Given the description of an element on the screen output the (x, y) to click on. 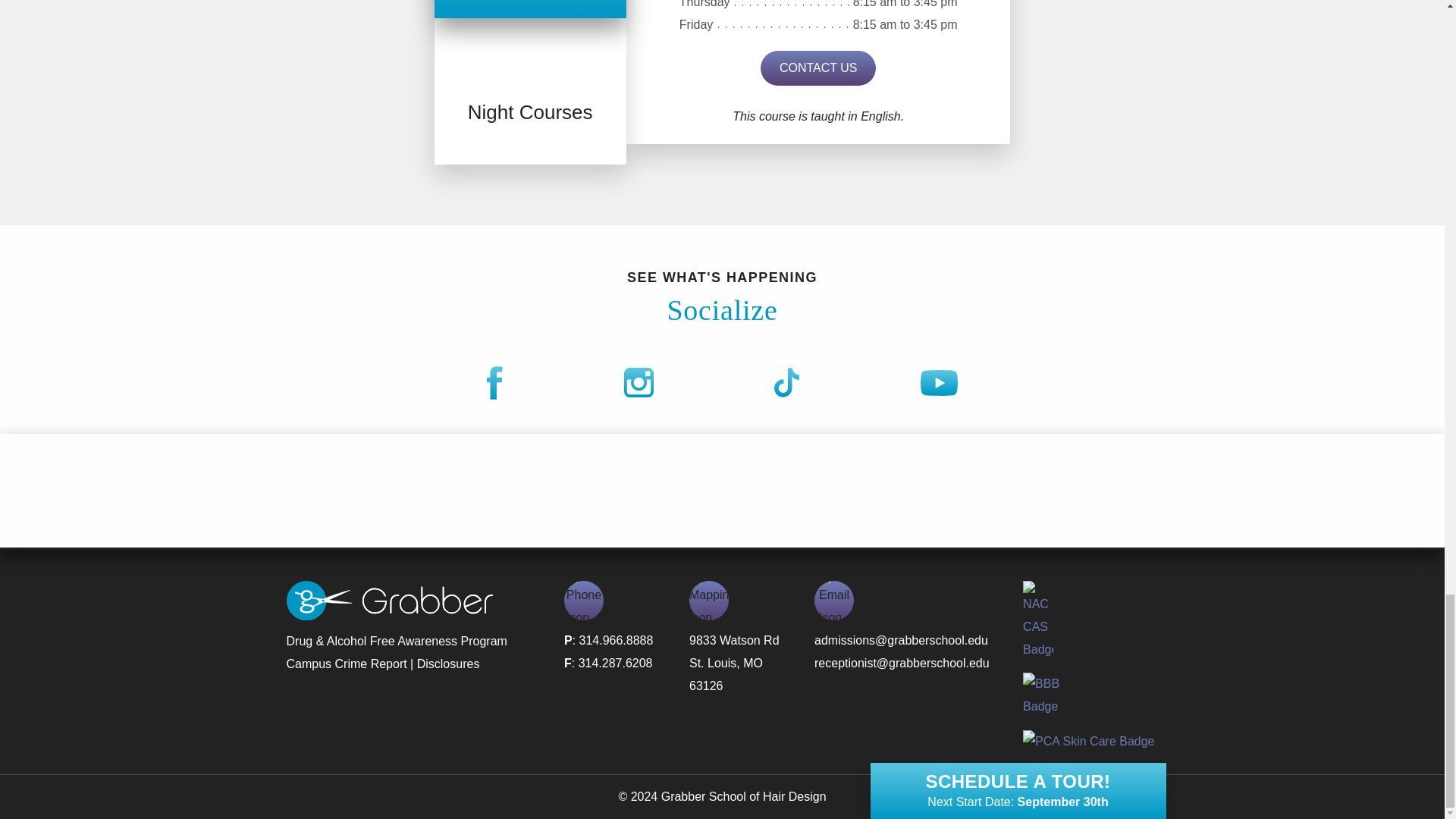
Drug and Alcohol Free Awareness Program (396, 640)
Instagram (638, 383)
Instagram logo (638, 382)
Contact Us (818, 67)
Grabber Home Page (389, 615)
YouTube logo (939, 382)
YouTube (939, 384)
